Given the description of an element on the screen output the (x, y) to click on. 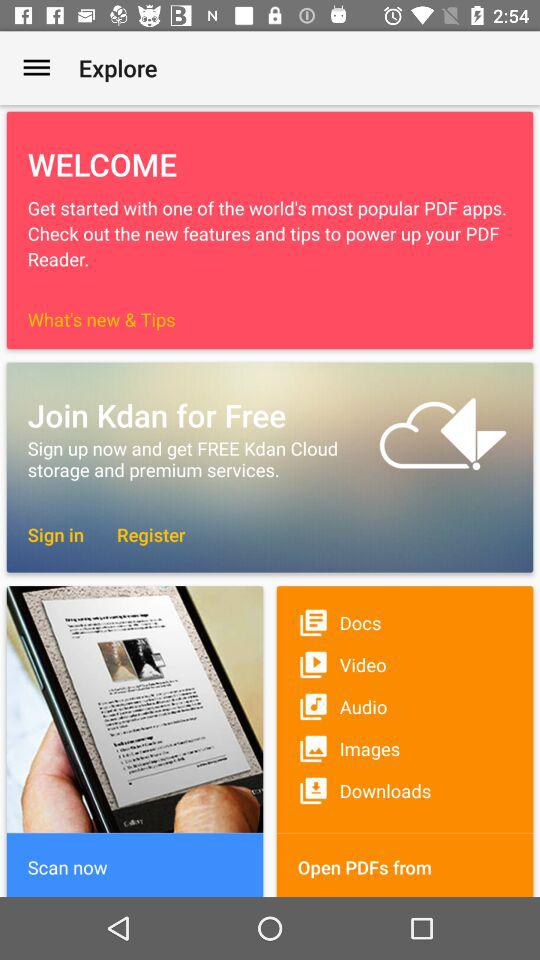
jump to audio icon (404, 706)
